Given the description of an element on the screen output the (x, y) to click on. 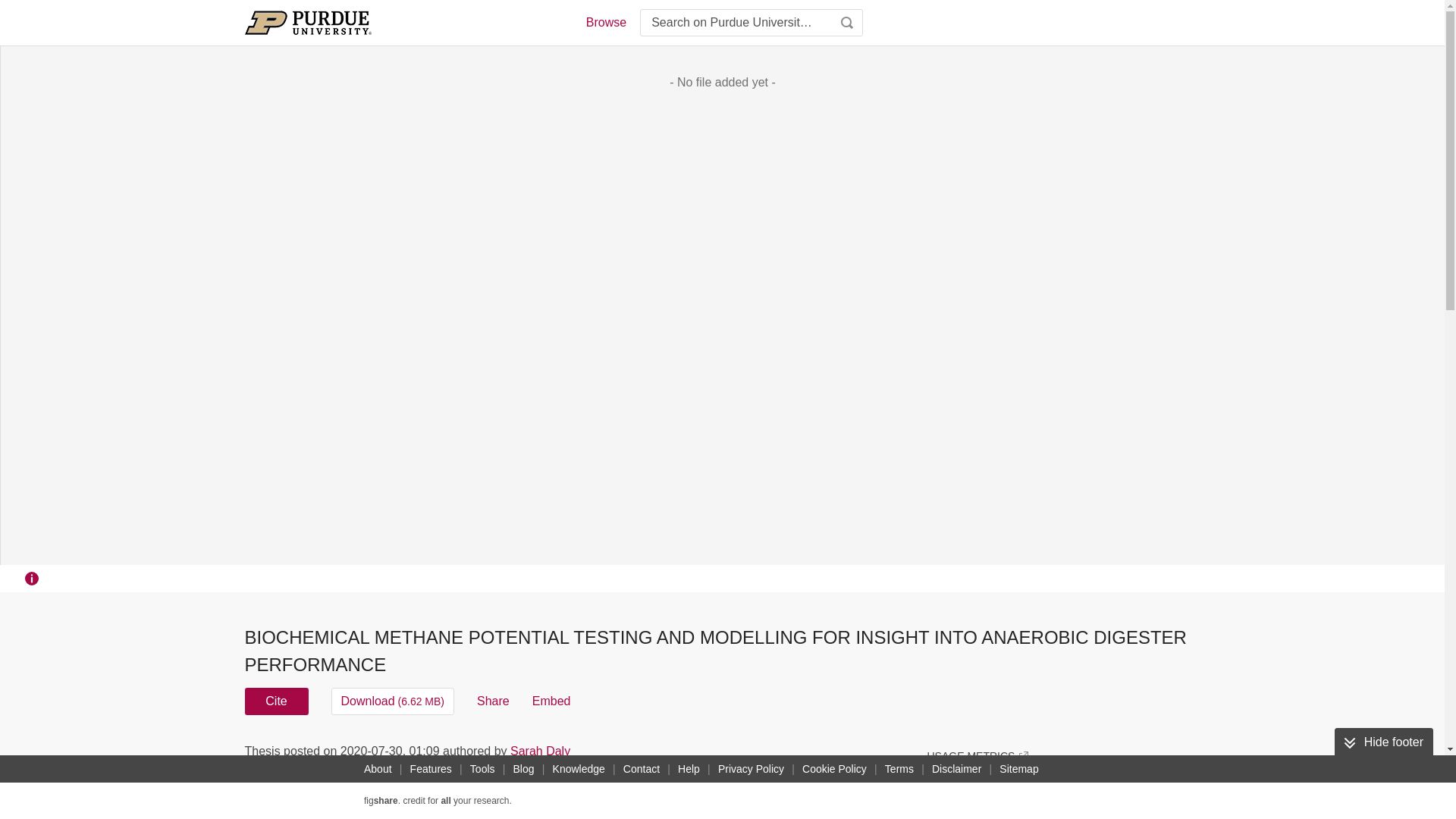
Embed (551, 700)
USAGE METRICS (976, 755)
Knowledge (579, 769)
Contact (640, 769)
Hide footer (1383, 742)
Terms (899, 769)
Privacy Policy (751, 769)
Disclaimer (956, 769)
Blog (523, 769)
About (377, 769)
Browse (605, 22)
Sarah Daly (540, 750)
Cite (275, 700)
Share (493, 700)
Help (688, 769)
